Given the description of an element on the screen output the (x, y) to click on. 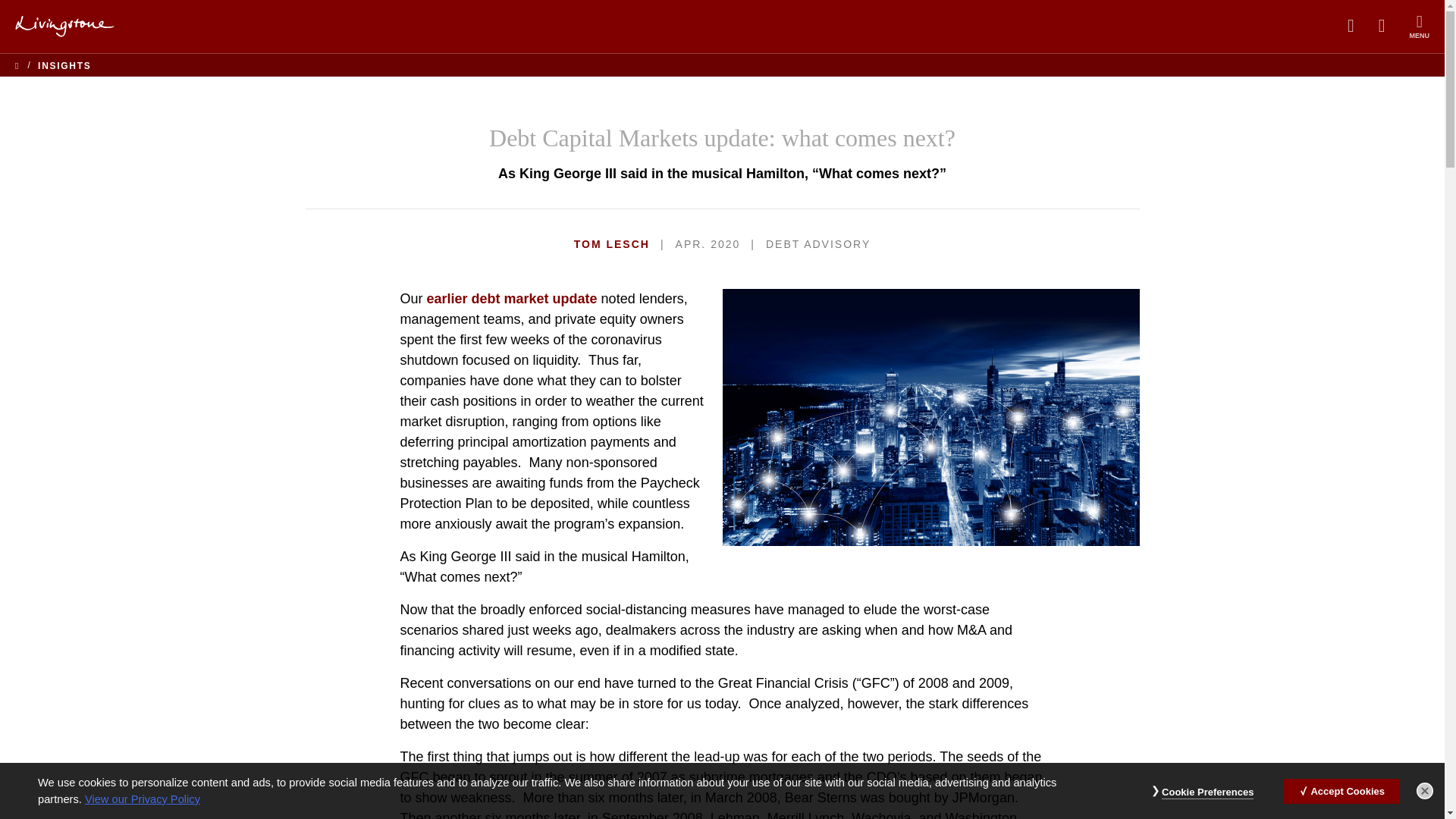
Accept Cookies (1341, 790)
View our Privacy Policy (142, 799)
INSIGHTS (63, 65)
Cookie Preferences (1207, 792)
Close (1424, 790)
Cookie Preferences (1207, 792)
Accept Cookies (1341, 790)
